Given the description of an element on the screen output the (x, y) to click on. 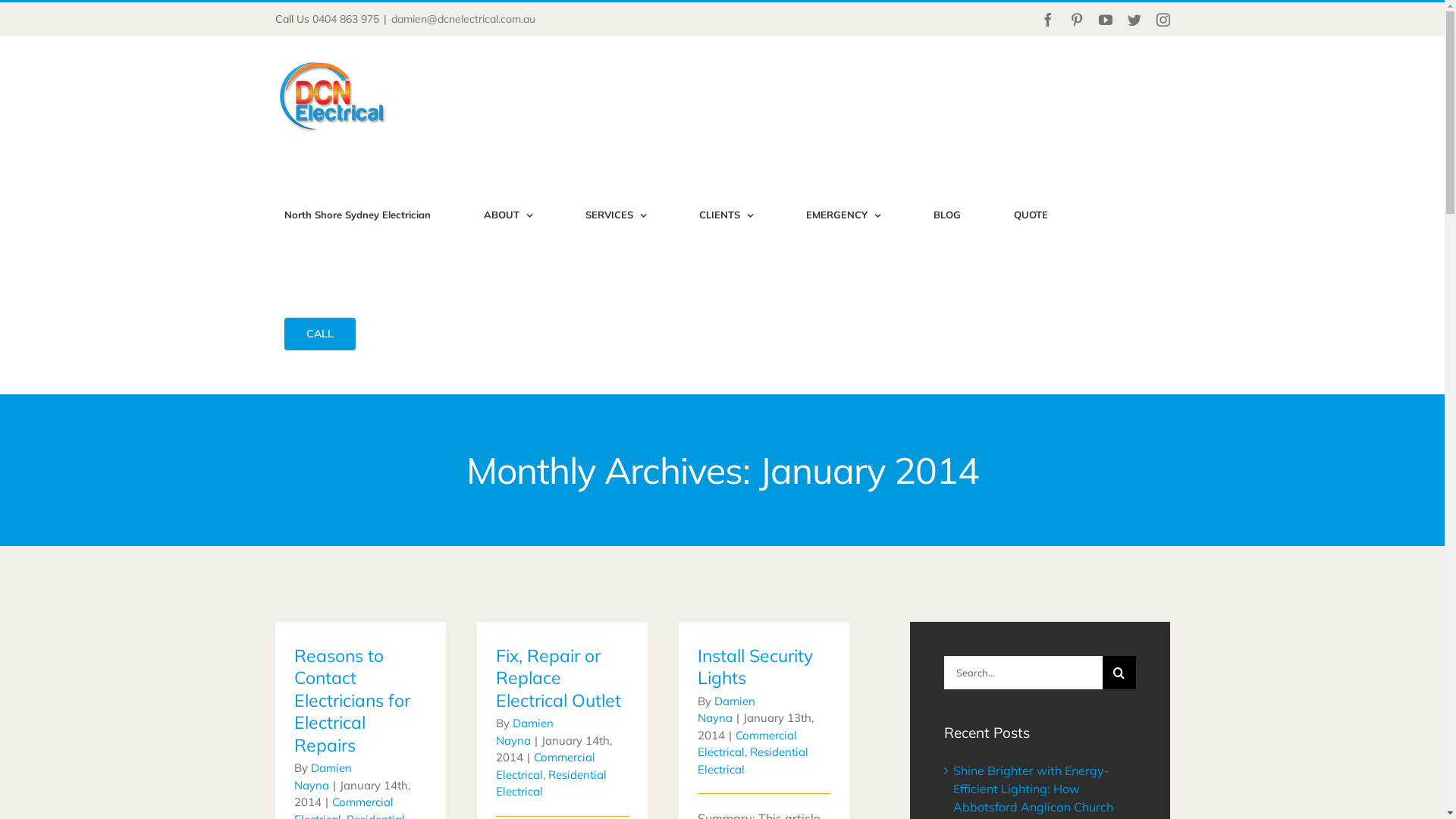
EMERGENCY Element type: text (842, 214)
SERVICES Element type: text (615, 214)
Instagram Element type: text (1162, 18)
QUOTE Element type: text (1030, 214)
Reasons to Contact Electricians for Electrical Repairs Element type: text (352, 700)
Commercial Electrical Element type: text (747, 743)
Install Security Lights Element type: text (754, 666)
Commercial Electrical Element type: text (545, 765)
Twitter Element type: text (1133, 18)
Residential Electrical Element type: text (752, 760)
CLIENTS Element type: text (726, 214)
YouTube Element type: text (1104, 18)
Residential Electrical Element type: text (550, 783)
damien@dcnelectrical.com.au Element type: text (463, 18)
Damien Nayna Element type: text (322, 776)
0404 863 975 Element type: text (345, 18)
Damien Nayna Element type: text (726, 709)
Fix, Repair or Replace Electrical Outlet Element type: text (558, 677)
Damien Nayna Element type: text (524, 731)
North Shore Sydney Electrician Element type: text (356, 214)
CALL Element type: text (319, 333)
ABOUT Element type: text (508, 214)
BLOG Element type: text (946, 214)
Facebook Element type: text (1047, 18)
Pinterest Element type: text (1075, 18)
